Given the description of an element on the screen output the (x, y) to click on. 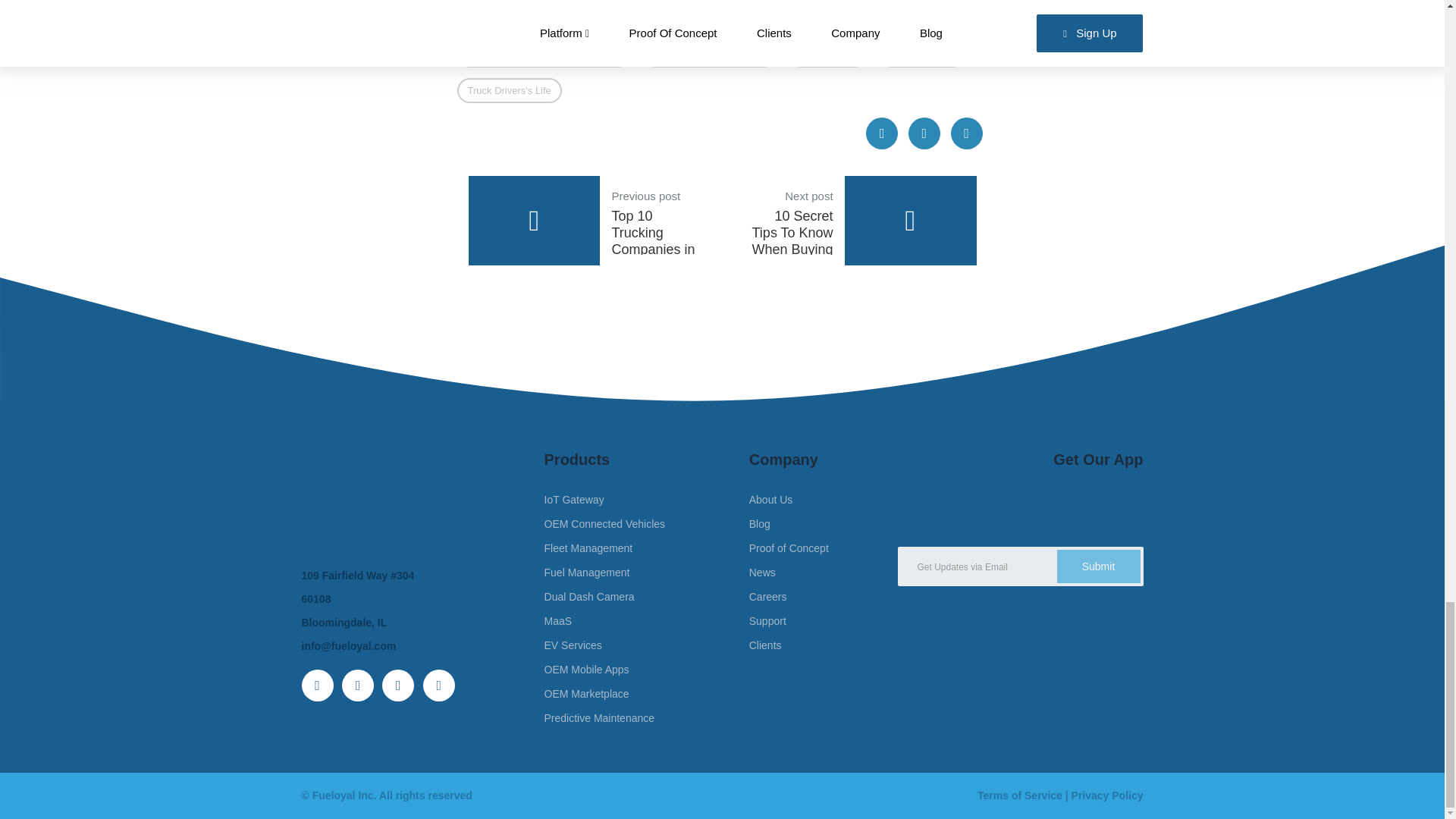
Drivers's Life (827, 54)
Share on Linkedin (966, 133)
10 Facts About Truck Drivers's Life (542, 54)
Share on Twitter (882, 133)
About Truck Drivers's Life (709, 54)
Truck Drivers's Life (508, 90)
Truck Drivers's (582, 220)
Share on Facebook (922, 54)
